Given the description of an element on the screen output the (x, y) to click on. 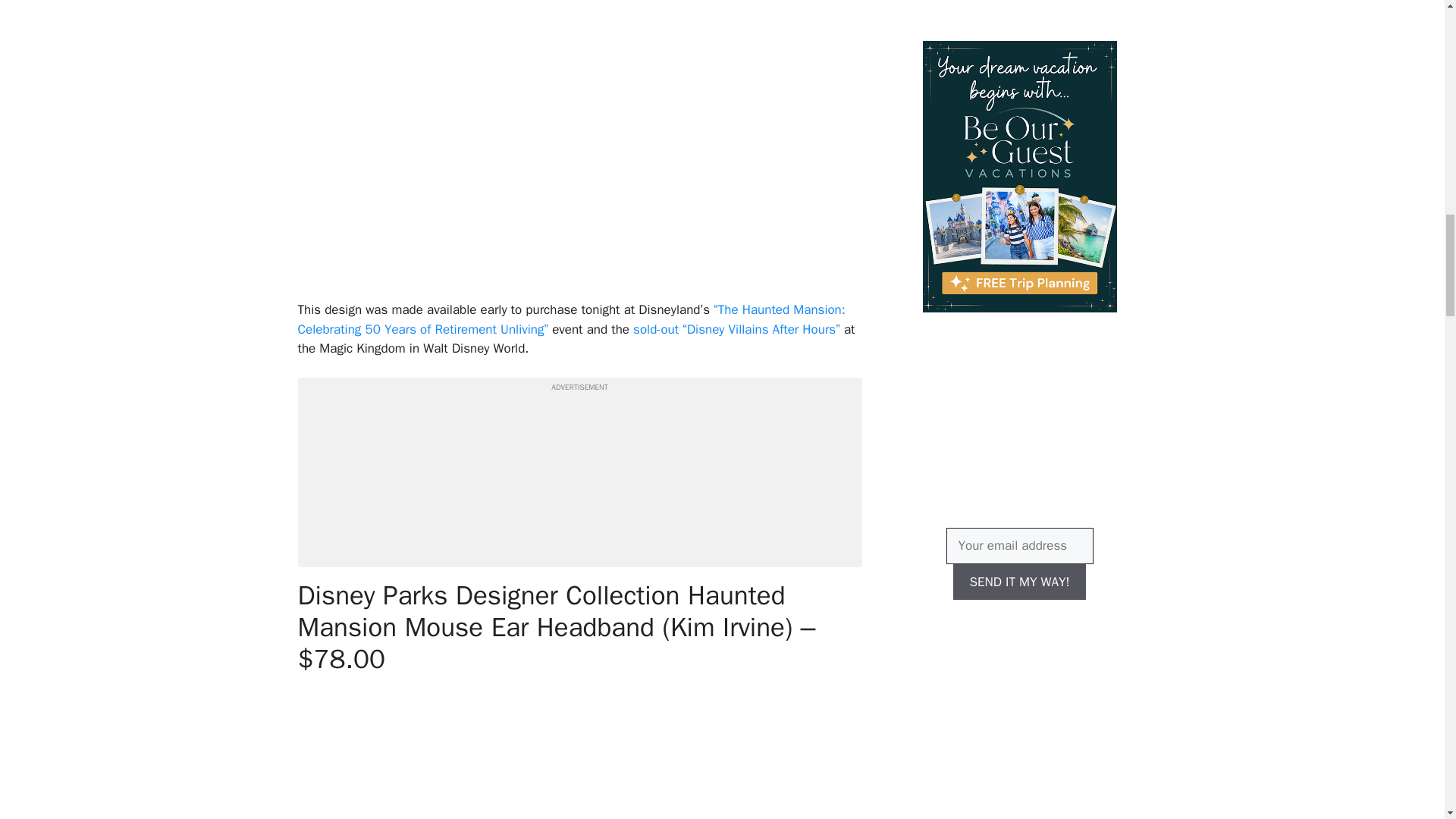
SEND IT MY WAY! (1018, 582)
